Given the description of an element on the screen output the (x, y) to click on. 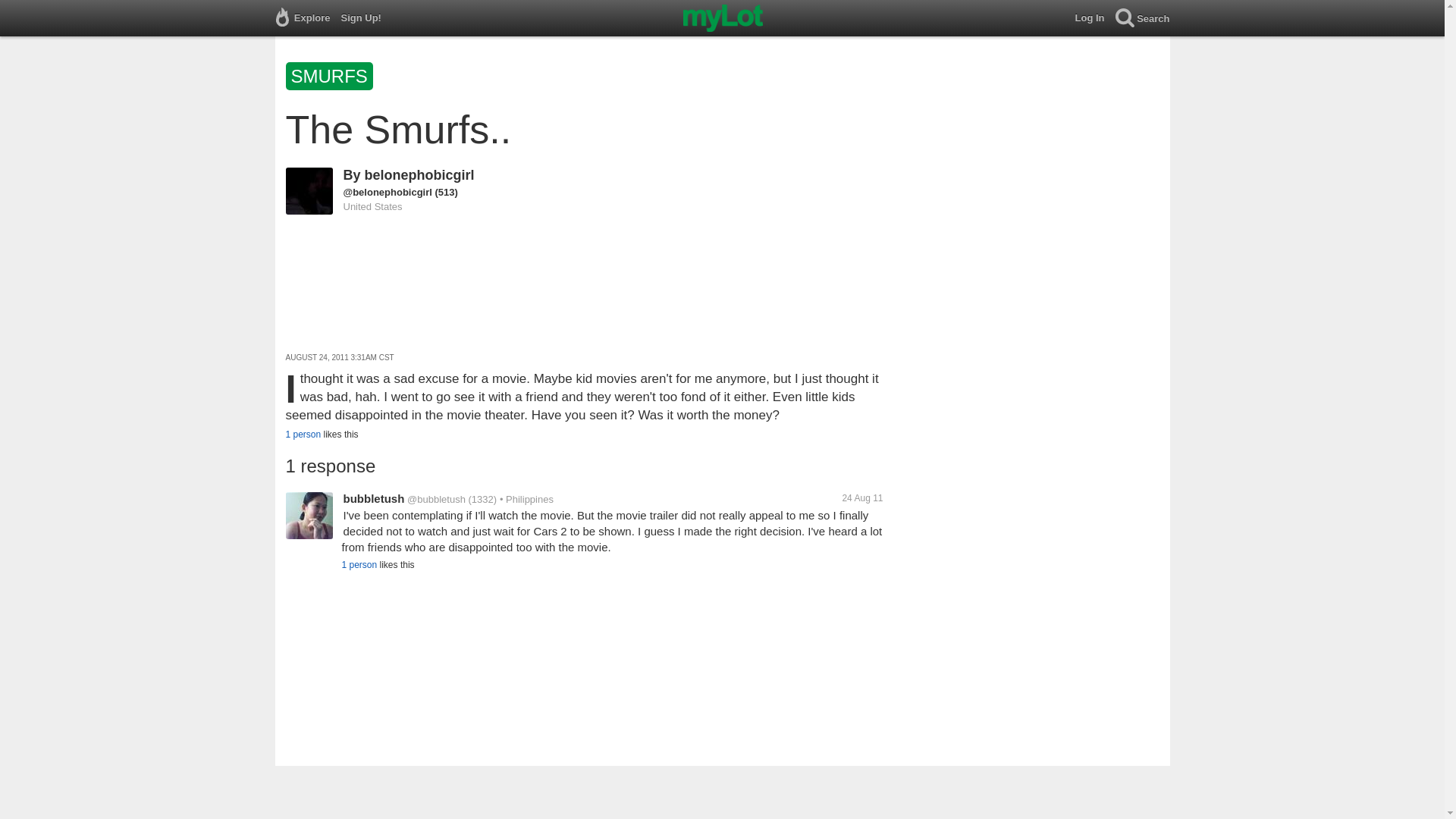
1 person (302, 434)
SMURFS (330, 79)
bubbletush (373, 498)
Sign Up! (365, 18)
belonephobicgirl (419, 174)
Log In (1095, 18)
1 person (358, 564)
